Given the description of an element on the screen output the (x, y) to click on. 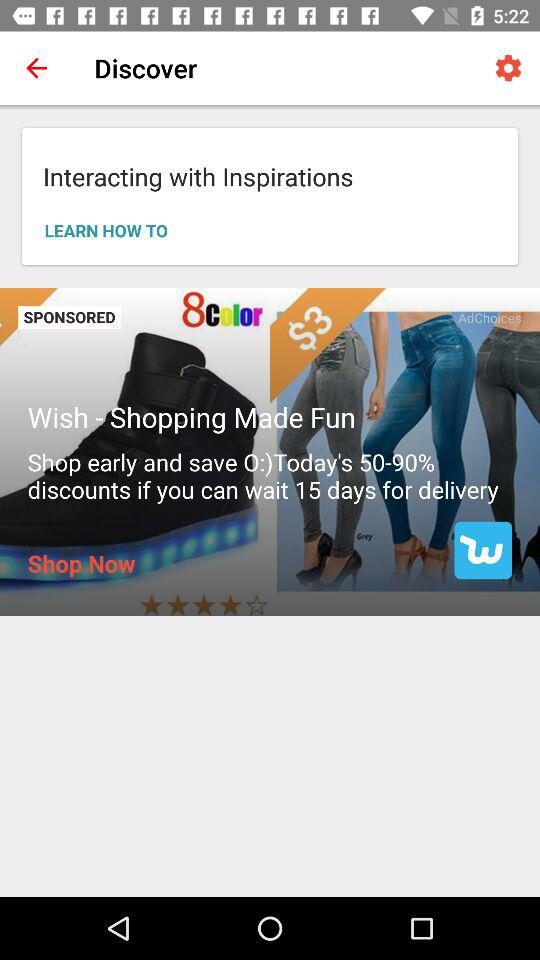
click item next to the discover item (36, 68)
